Given the description of an element on the screen output the (x, y) to click on. 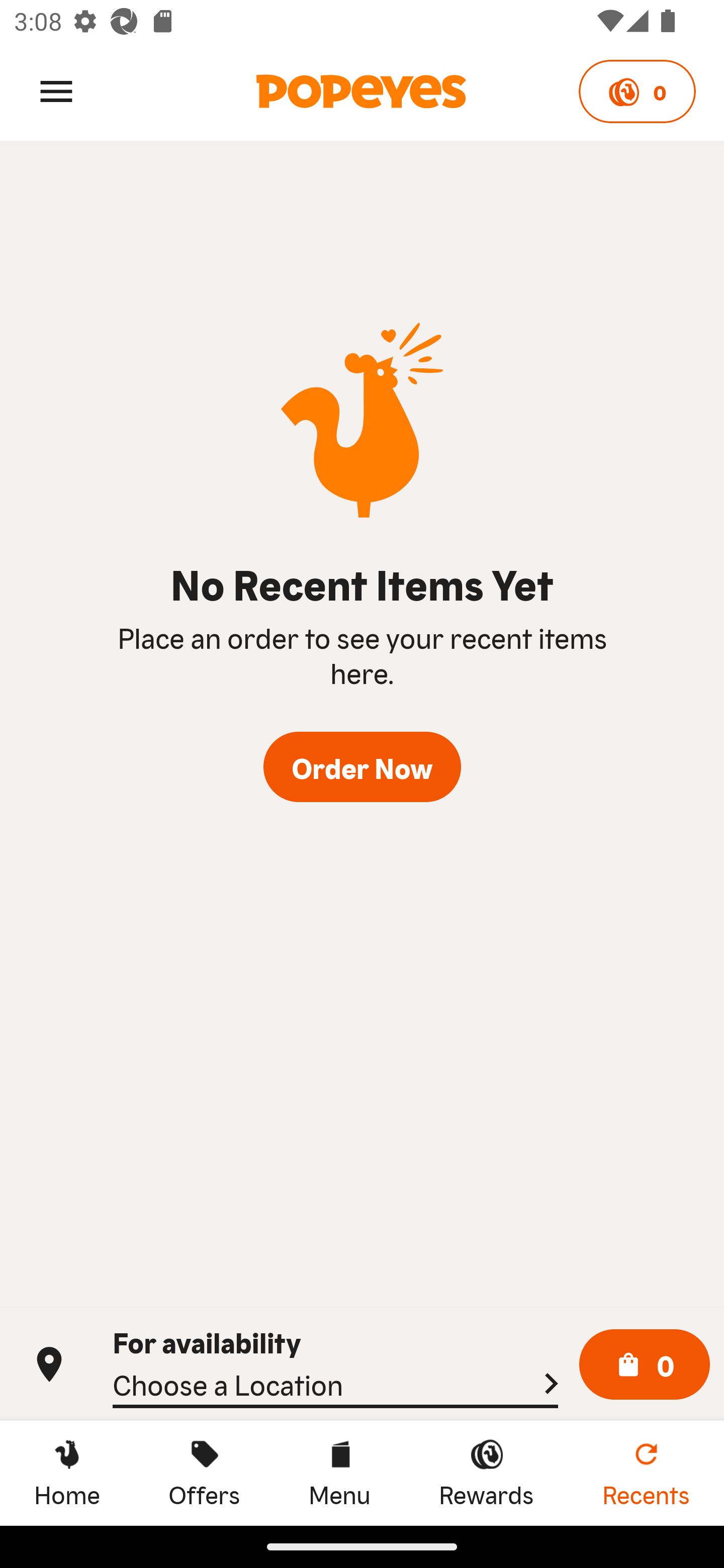
Menu  (56, 90)
0 Points 0 (636, 91)
Order Now (362, 767)
0 Cart total  0 (644, 1364)
Home Home Home (66, 1472)
Offers Offers Offers (203, 1472)
Menu Menu Menu (339, 1472)
Rewards Rewards Rewards (486, 1472)
